Given the description of an element on the screen output the (x, y) to click on. 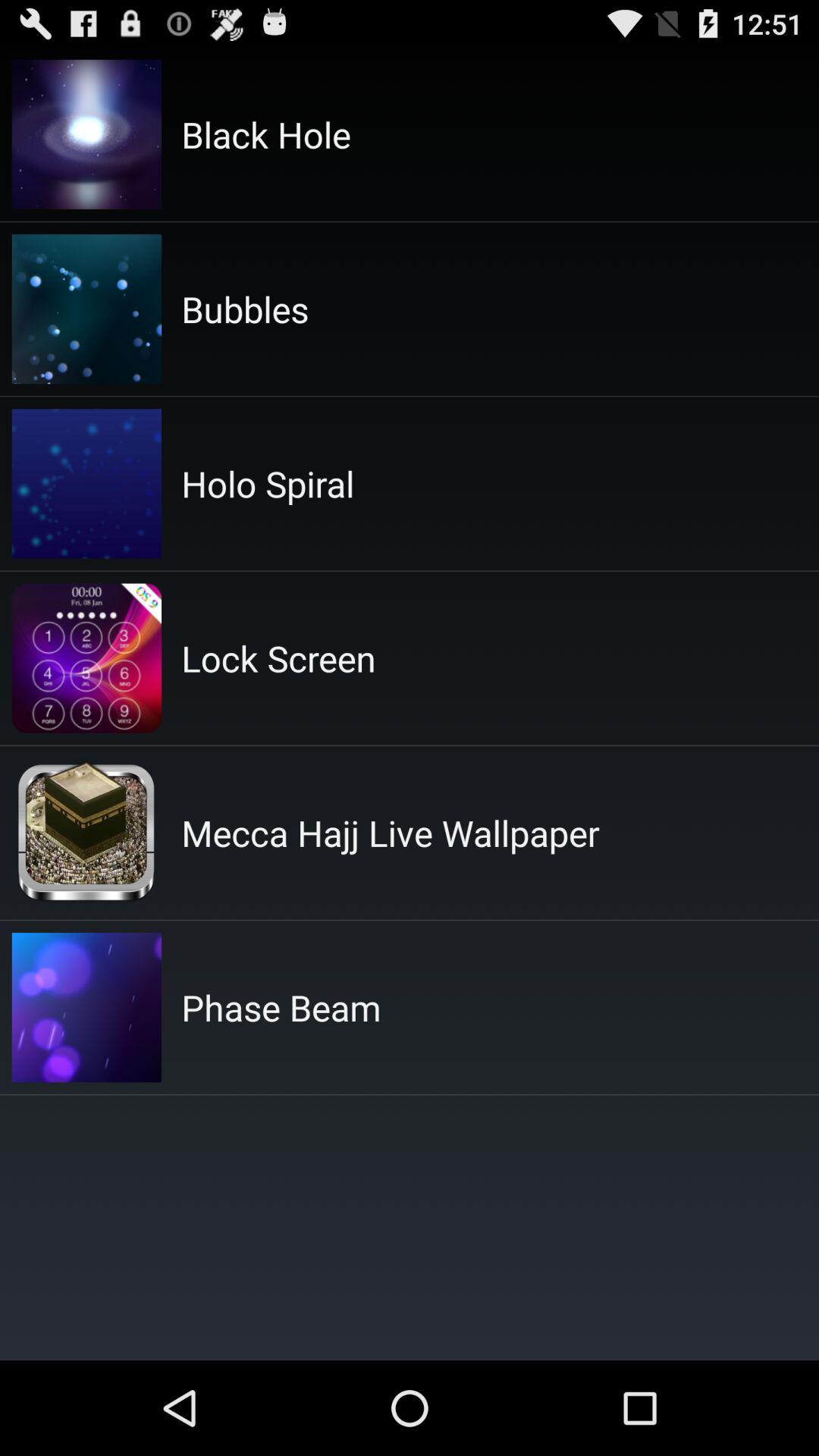
tap item above bubbles (265, 134)
